Given the description of an element on the screen output the (x, y) to click on. 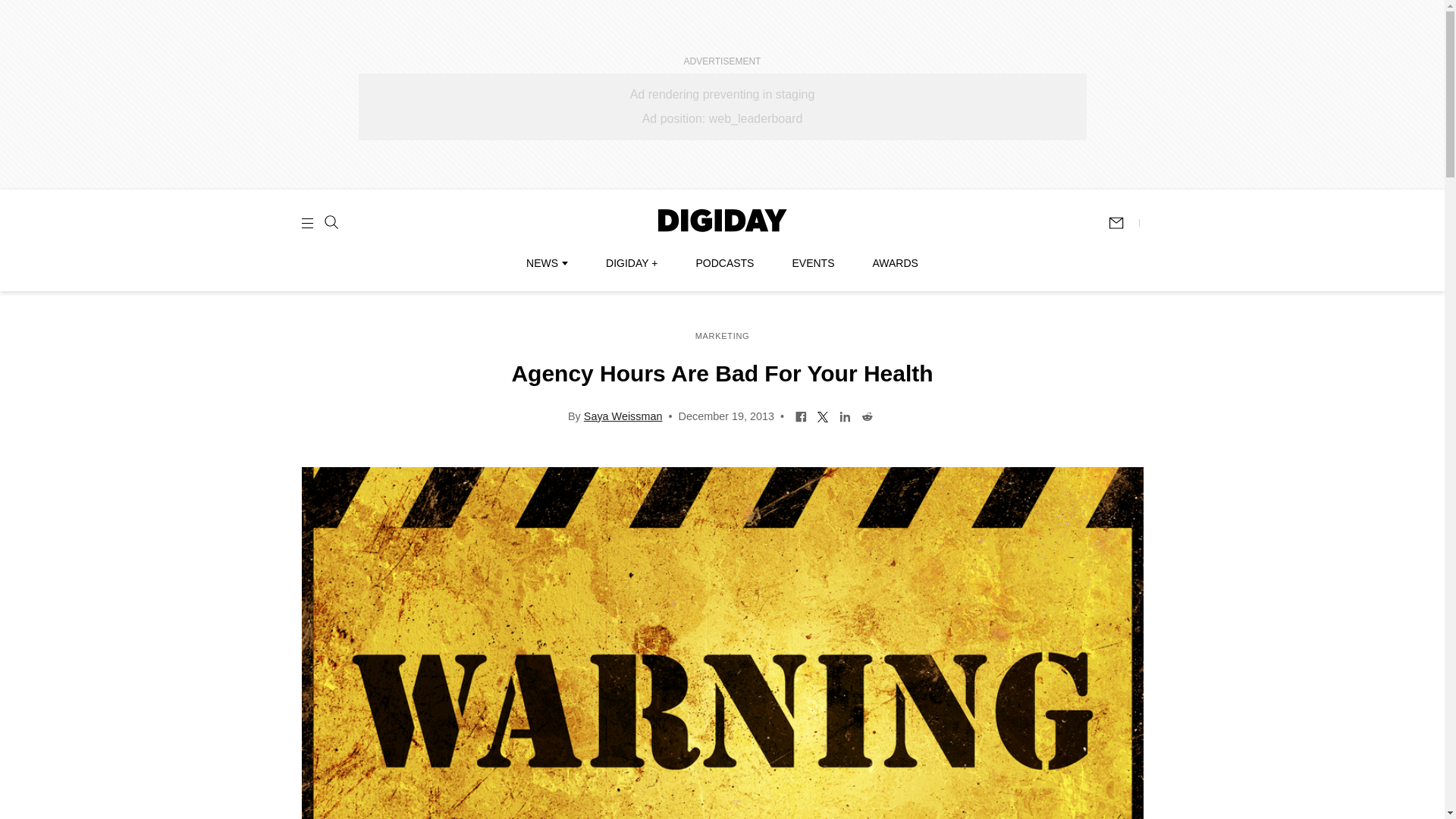
AWARDS (894, 262)
PODCASTS (725, 262)
Share on LinkedIn (844, 415)
Subscribe (1123, 223)
Share on Twitter (822, 415)
Share on Facebook (801, 415)
EVENTS (813, 262)
NEWS (546, 262)
Share on Reddit (866, 415)
